Given the description of an element on the screen output the (x, y) to click on. 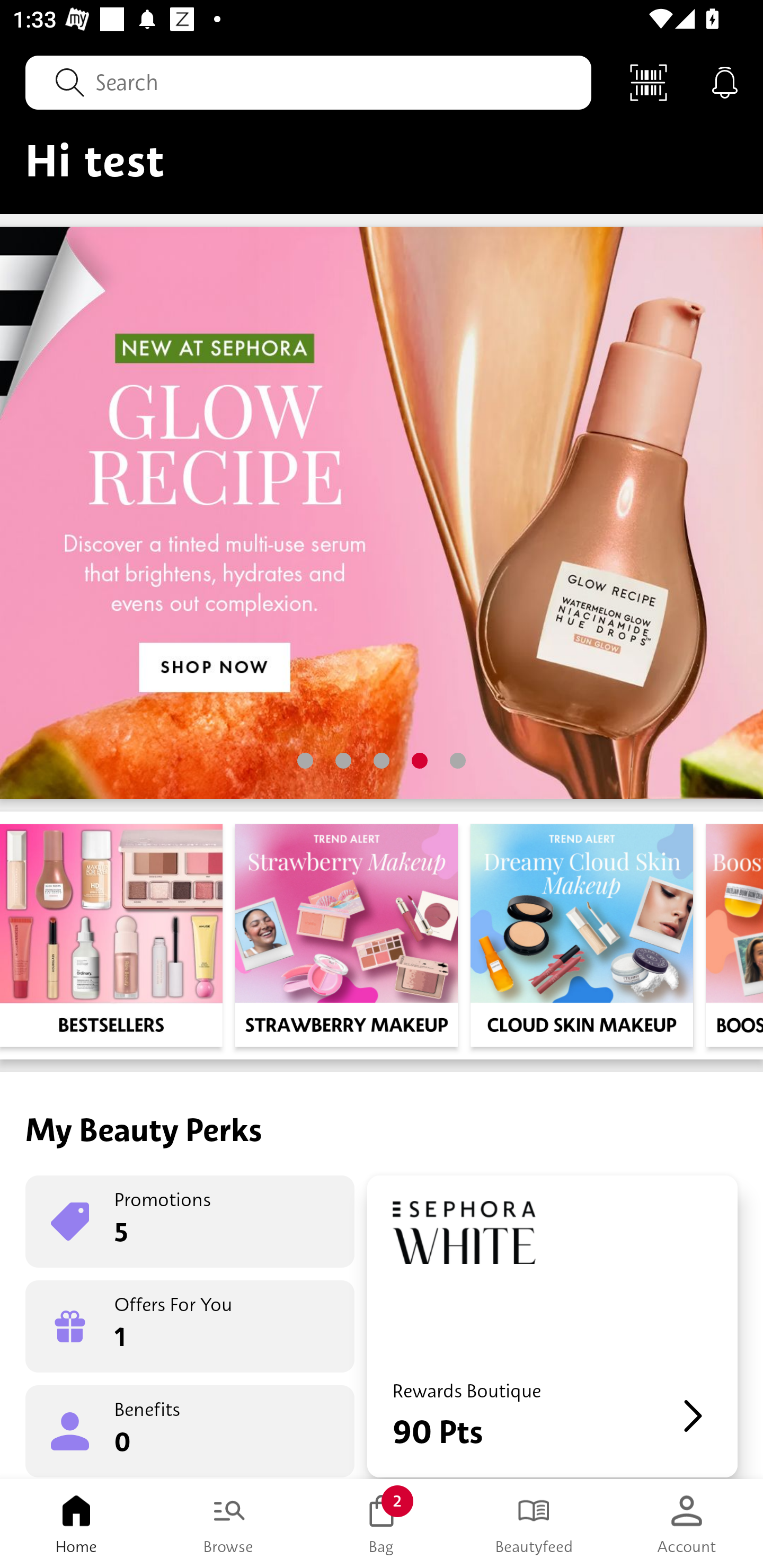
Scan Code (648, 81)
Notifications (724, 81)
Search (308, 81)
Promotions 5 (189, 1221)
Rewards Boutique 90 Pts (552, 1326)
Offers For You 1 (189, 1326)
Benefits 0 (189, 1430)
Browse (228, 1523)
Bag 2 Bag (381, 1523)
Beautyfeed (533, 1523)
Account (686, 1523)
